Given the description of an element on the screen output the (x, y) to click on. 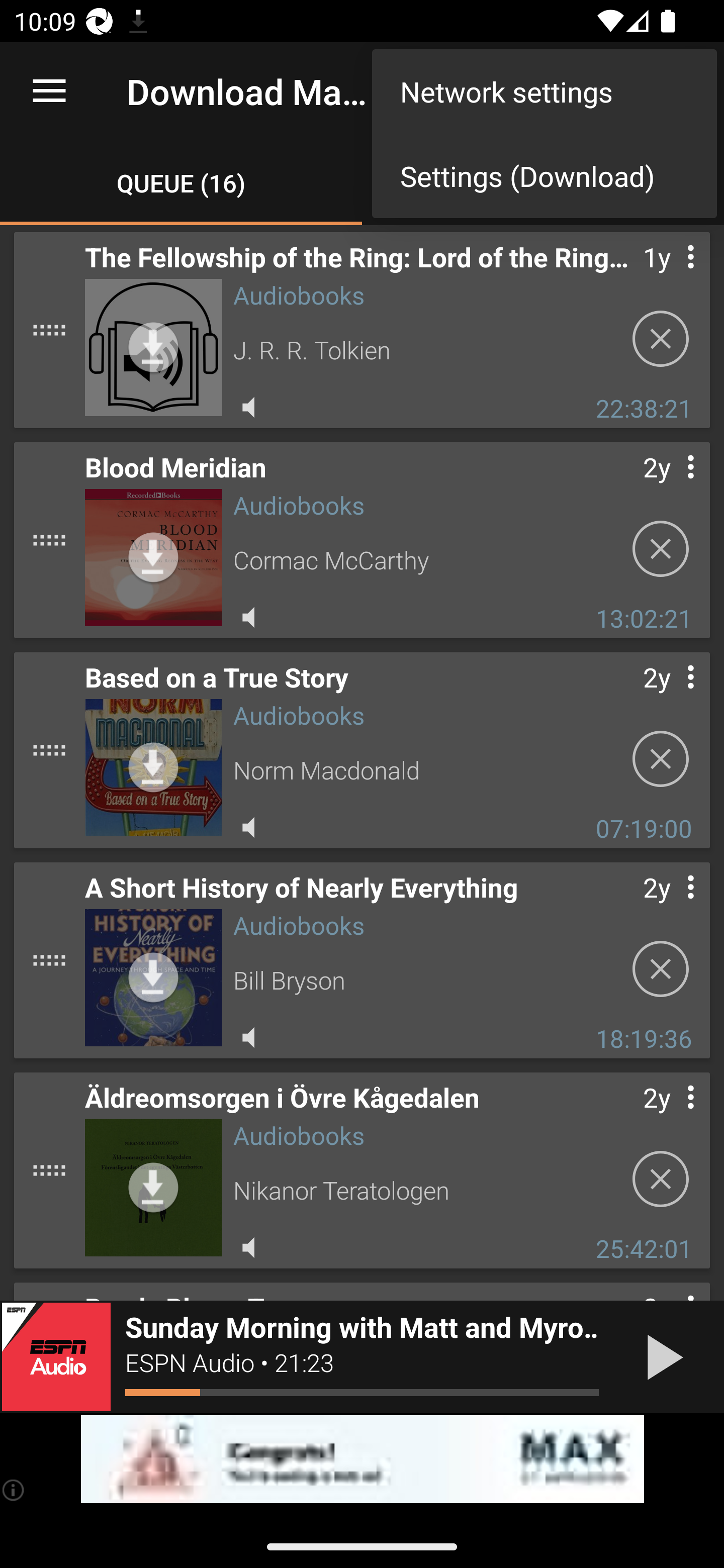
Network settings (544, 90)
Settings (Download) (544, 175)
